Given the description of an element on the screen output the (x, y) to click on. 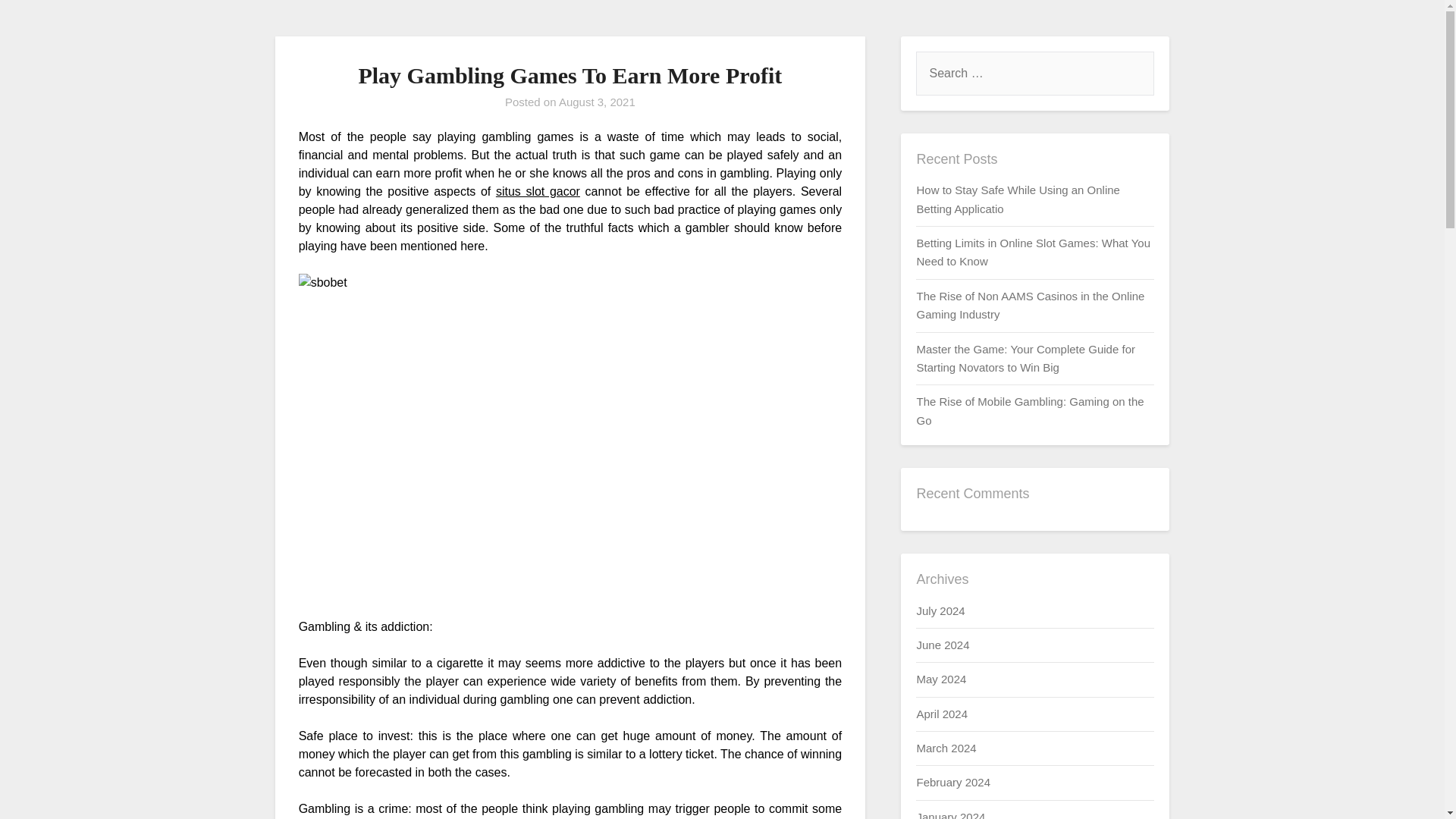
How to Stay Safe While Using an Online Betting Applicatio (1017, 198)
August 3, 2021 (596, 101)
May 2024 (940, 678)
January 2024 (950, 814)
The Rise of Mobile Gambling: Gaming on the Go (1028, 409)
situs slot gacor (537, 191)
June 2024 (942, 644)
July 2024 (939, 609)
Search (37, 22)
April 2024 (941, 713)
March 2024 (945, 748)
February 2024 (952, 781)
Betting Limits in Online Slot Games: What You Need to Know (1032, 251)
The Rise of Non AAMS Casinos in the Online Gaming Industry (1029, 305)
